Given the description of an element on the screen output the (x, y) to click on. 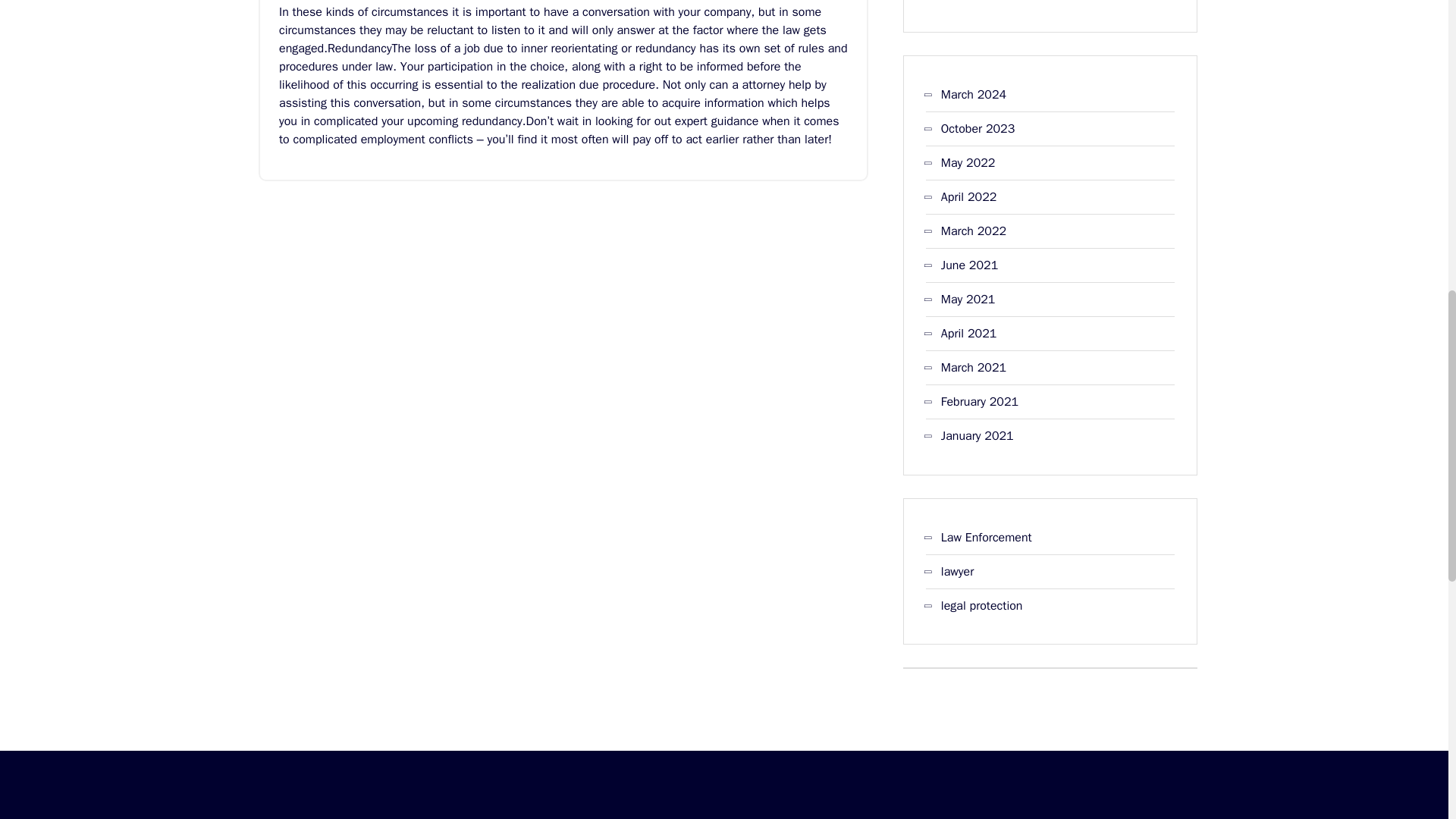
March 2021 (973, 367)
Law Enforcement (986, 537)
April 2021 (968, 333)
February 2021 (978, 402)
May 2022 (967, 162)
March 2022 (973, 230)
January 2021 (976, 435)
June 2021 (968, 265)
March 2024 (973, 94)
May 2021 (967, 299)
October 2023 (977, 128)
April 2022 (968, 197)
